Given the description of an element on the screen output the (x, y) to click on. 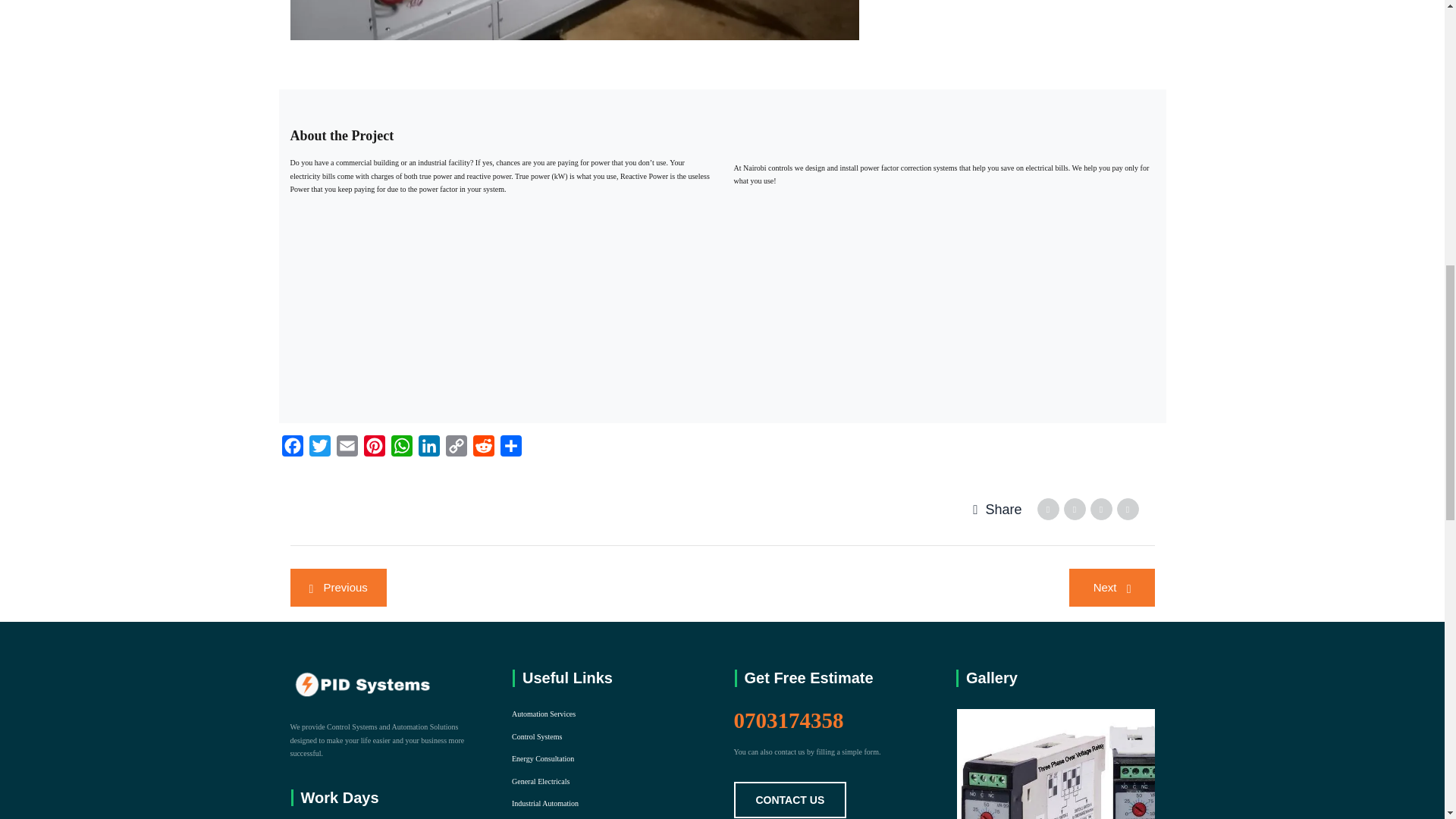
Pinterest (374, 448)
Copy Link (456, 448)
Twitter (319, 448)
Pinterest (374, 448)
Twitter (319, 448)
Copy Link (456, 448)
Nairobi Controls Automation (1066, 764)
LinkedIn (428, 448)
Email (347, 448)
Email (347, 448)
